Given the description of an element on the screen output the (x, y) to click on. 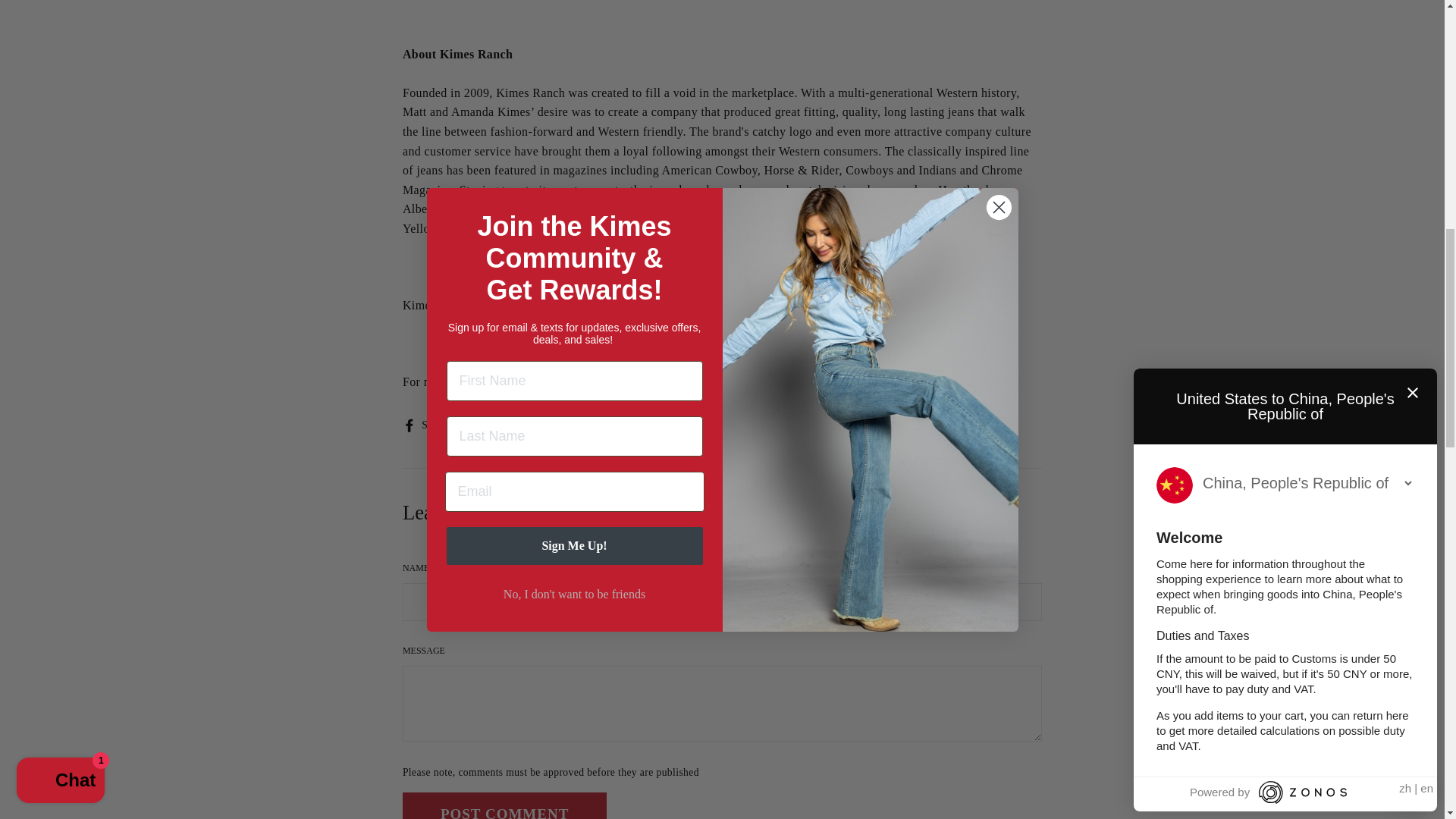
Share on Facebook (430, 424)
Pin on Pinterest (569, 424)
Tweet on Twitter (499, 424)
